Given the description of an element on the screen output the (x, y) to click on. 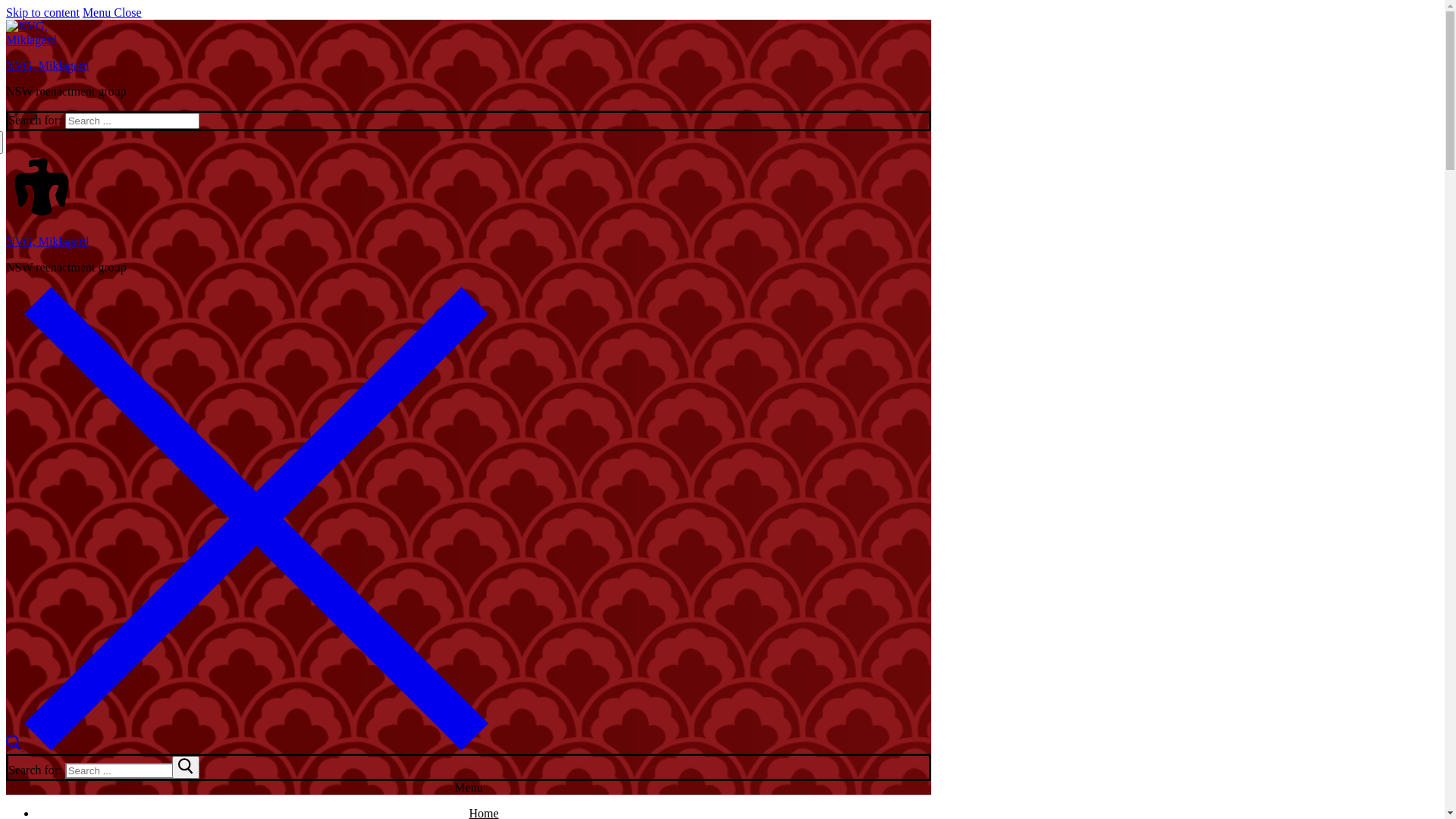
Search for: Element type: hover (132, 120)
NVG, Miklagard Element type: text (47, 241)
NVG, Miklagard Element type: text (47, 65)
Menu Close Element type: text (111, 12)
Menu Element type: text (468, 787)
Search for: Element type: hover (132, 770)
Skip to content Element type: text (42, 12)
